Given the description of an element on the screen output the (x, y) to click on. 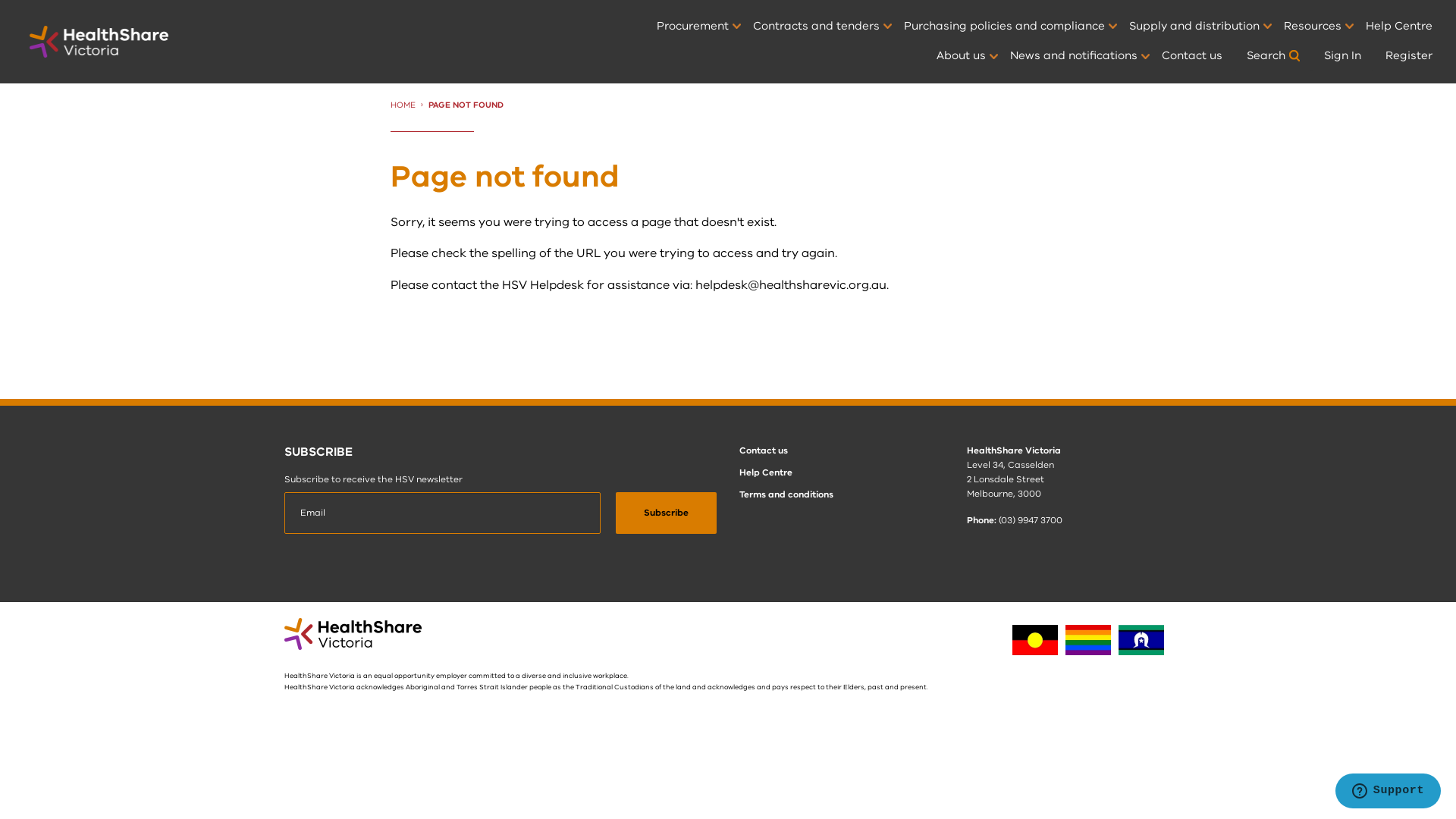
Sign In Element type: text (1342, 56)
Help Centre Element type: text (765, 472)
Resources Element type: text (1312, 26)
Purchasing policies and compliance Element type: text (1004, 26)
Procurement Element type: text (692, 26)
About us Element type: text (960, 56)
Contracts and tenders Element type: text (815, 26)
Opens a widget where you can find more information Element type: hover (1387, 792)
Search Element type: text (1272, 56)
Help Centre Element type: text (1398, 26)
Contact us Element type: text (763, 450)
Contact us Element type: text (1191, 56)
Register Element type: text (1408, 56)
Skip to Content Element type: text (0, 0)
Log in Element type: text (1224, 340)
News and notifications Element type: text (1073, 56)
Subscribe Element type: text (665, 513)
HOME Element type: text (402, 104)
Terms and conditions Element type: text (786, 494)
Supply and distribution Element type: text (1194, 26)
